Given the description of an element on the screen output the (x, y) to click on. 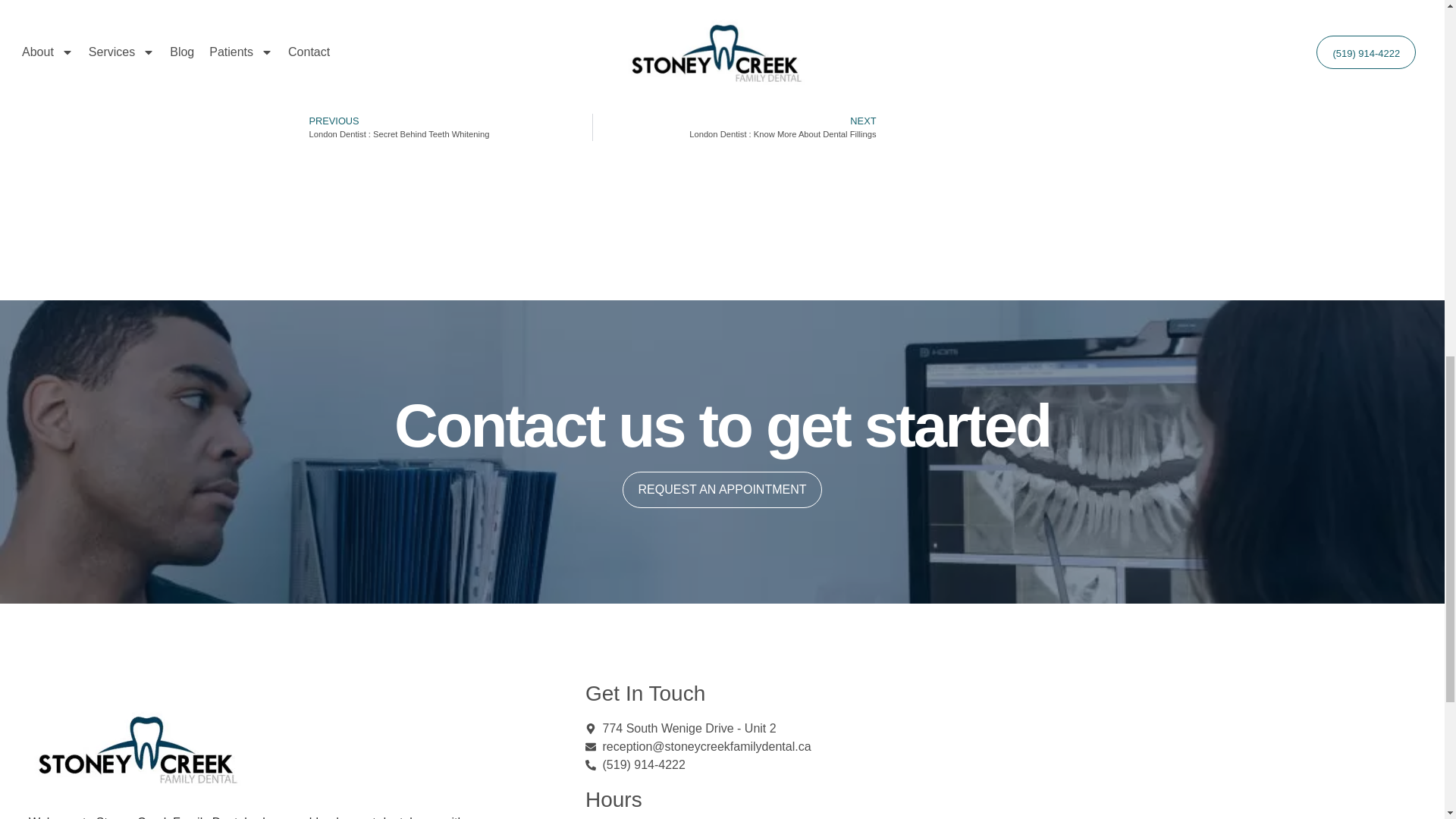
exeter family dental (1228, 761)
